Given the description of an element on the screen output the (x, y) to click on. 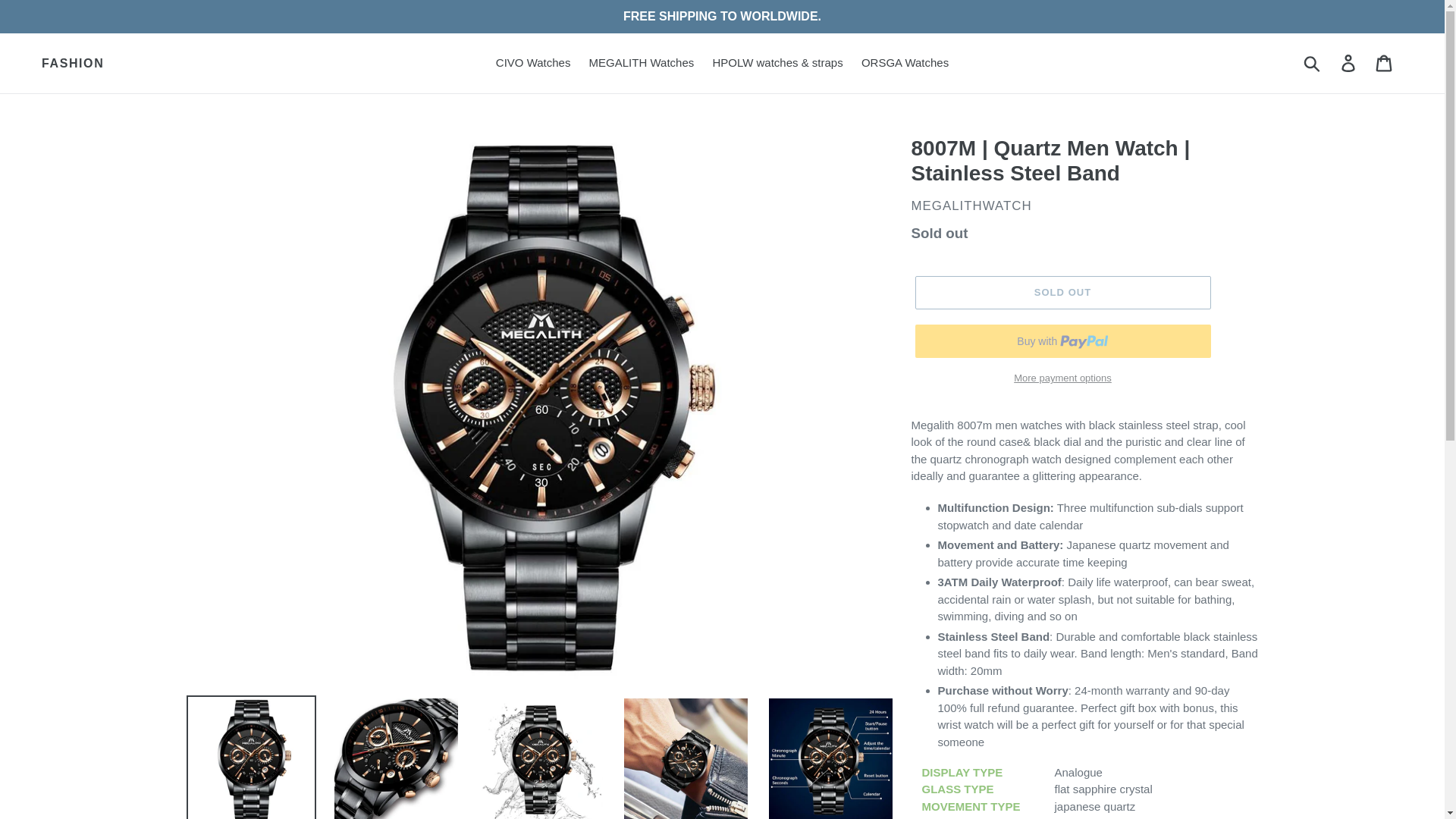
FASHION (72, 63)
ORSGA Watches (904, 63)
MEGALITH Watches (640, 63)
Cart (1385, 62)
Log in (1349, 62)
CIVO Watches (532, 63)
SOLD OUT (1061, 292)
Submit (1313, 62)
More payment options (1061, 378)
